Given the description of an element on the screen output the (x, y) to click on. 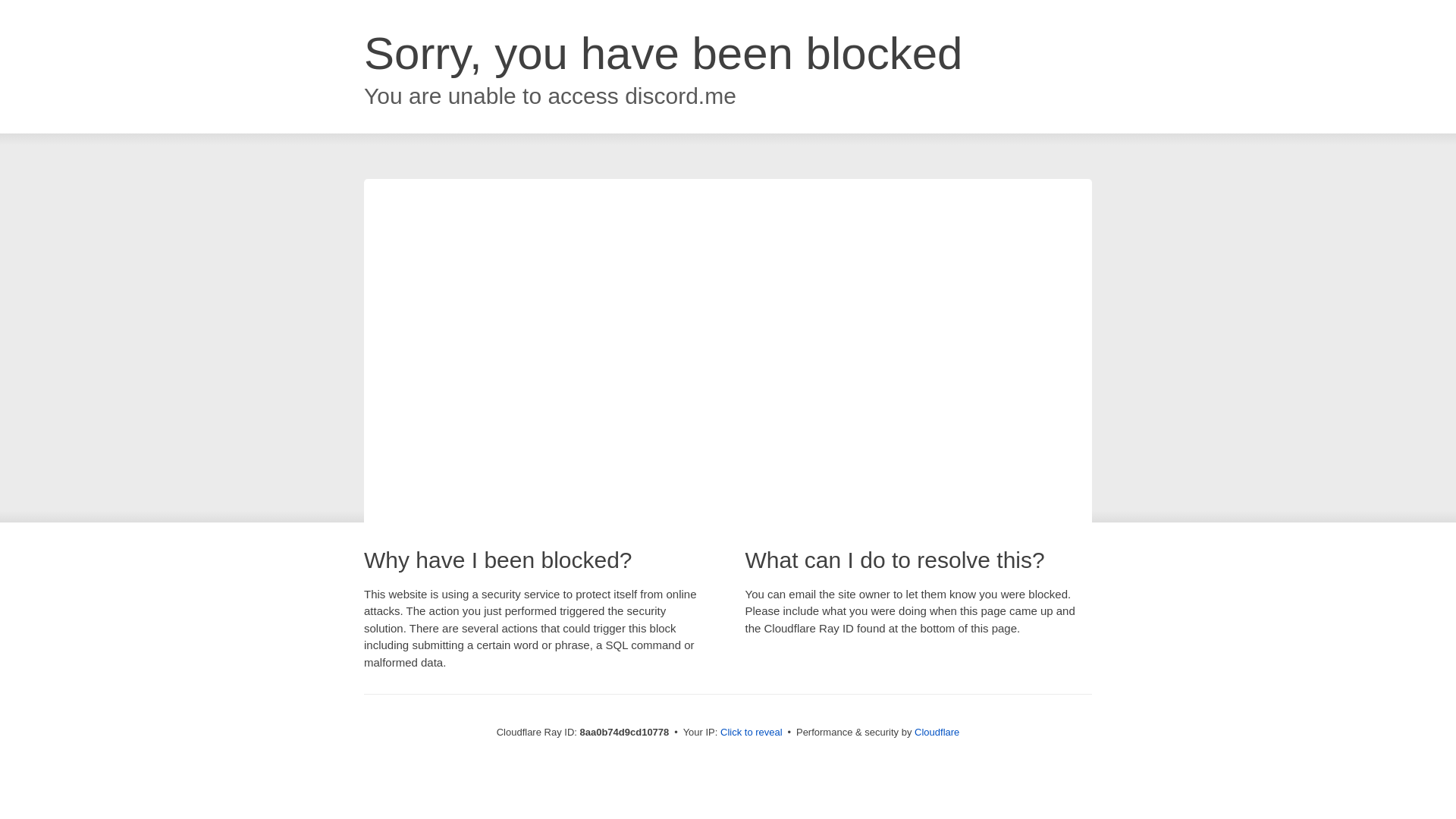
Cloudflare (936, 731)
Click to reveal (751, 732)
